Given the description of an element on the screen output the (x, y) to click on. 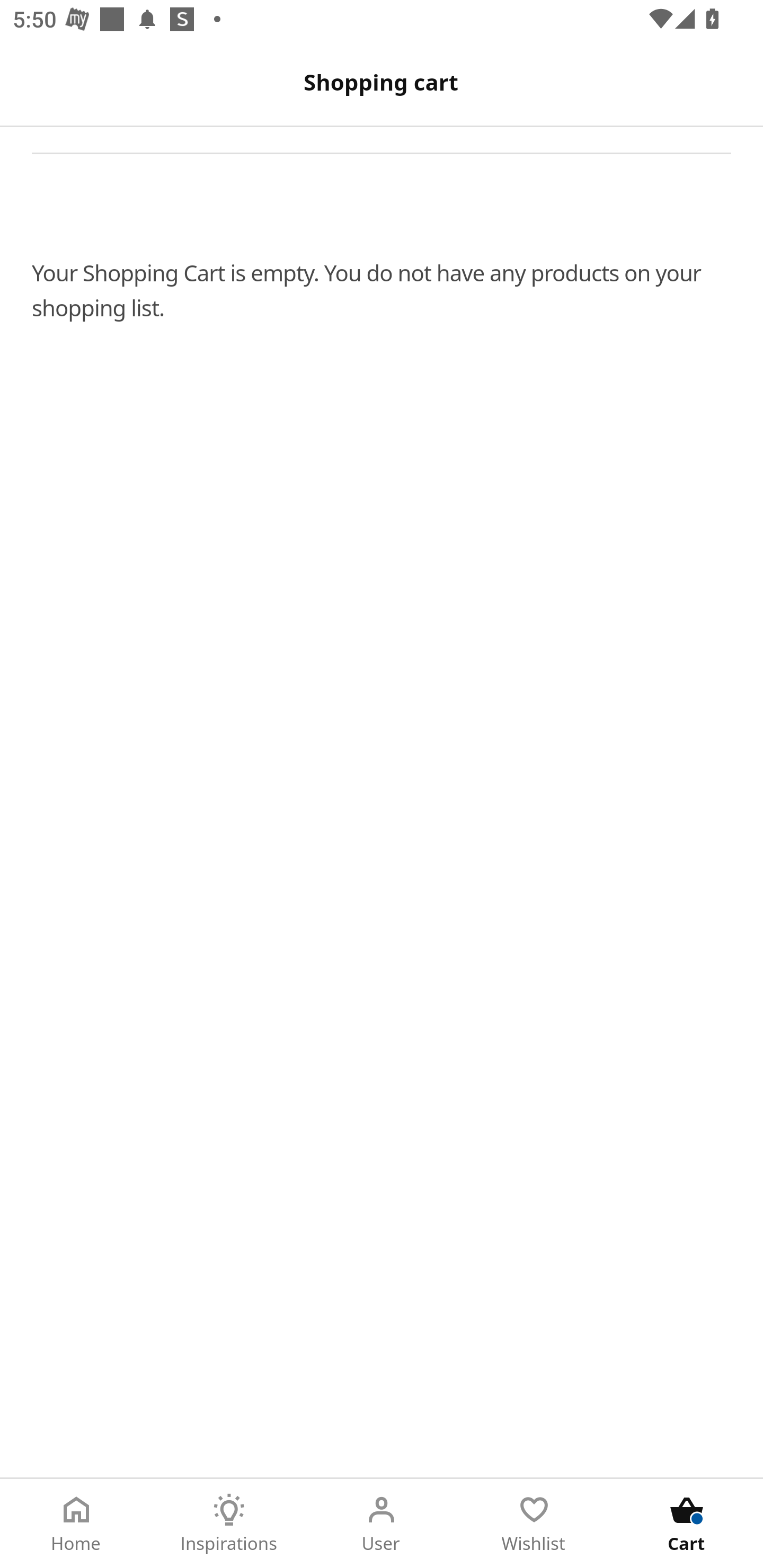
Home
Tab 1 of 5 (76, 1522)
Inspirations
Tab 2 of 5 (228, 1522)
User
Tab 3 of 5 (381, 1522)
Wishlist
Tab 4 of 5 (533, 1522)
Cart
Tab 5 of 5 (686, 1522)
